Given the description of an element on the screen output the (x, y) to click on. 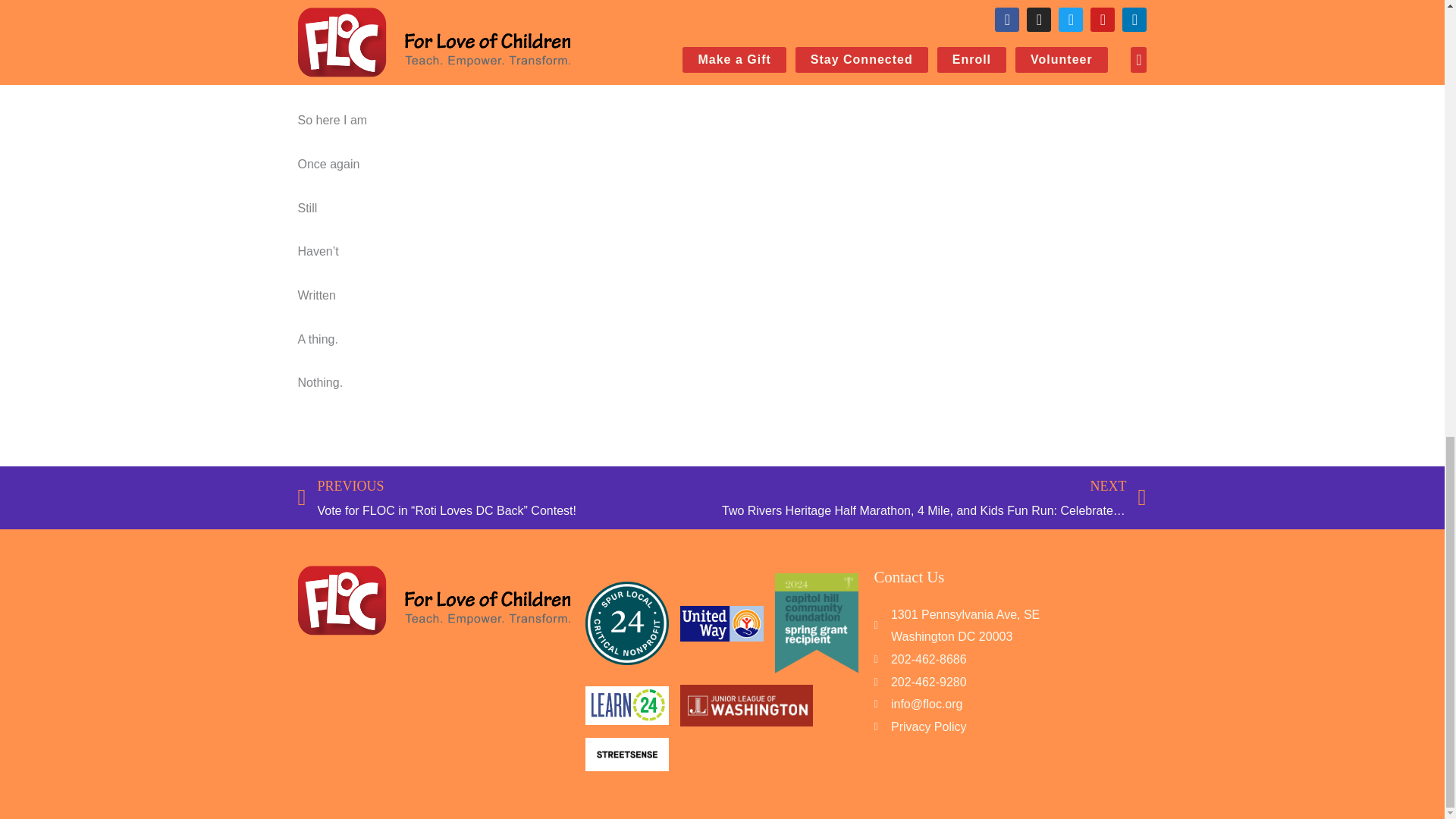
JLW-Logo-1 1 (745, 704)
united-way-banner 1 (720, 624)
